Given the description of an element on the screen output the (x, y) to click on. 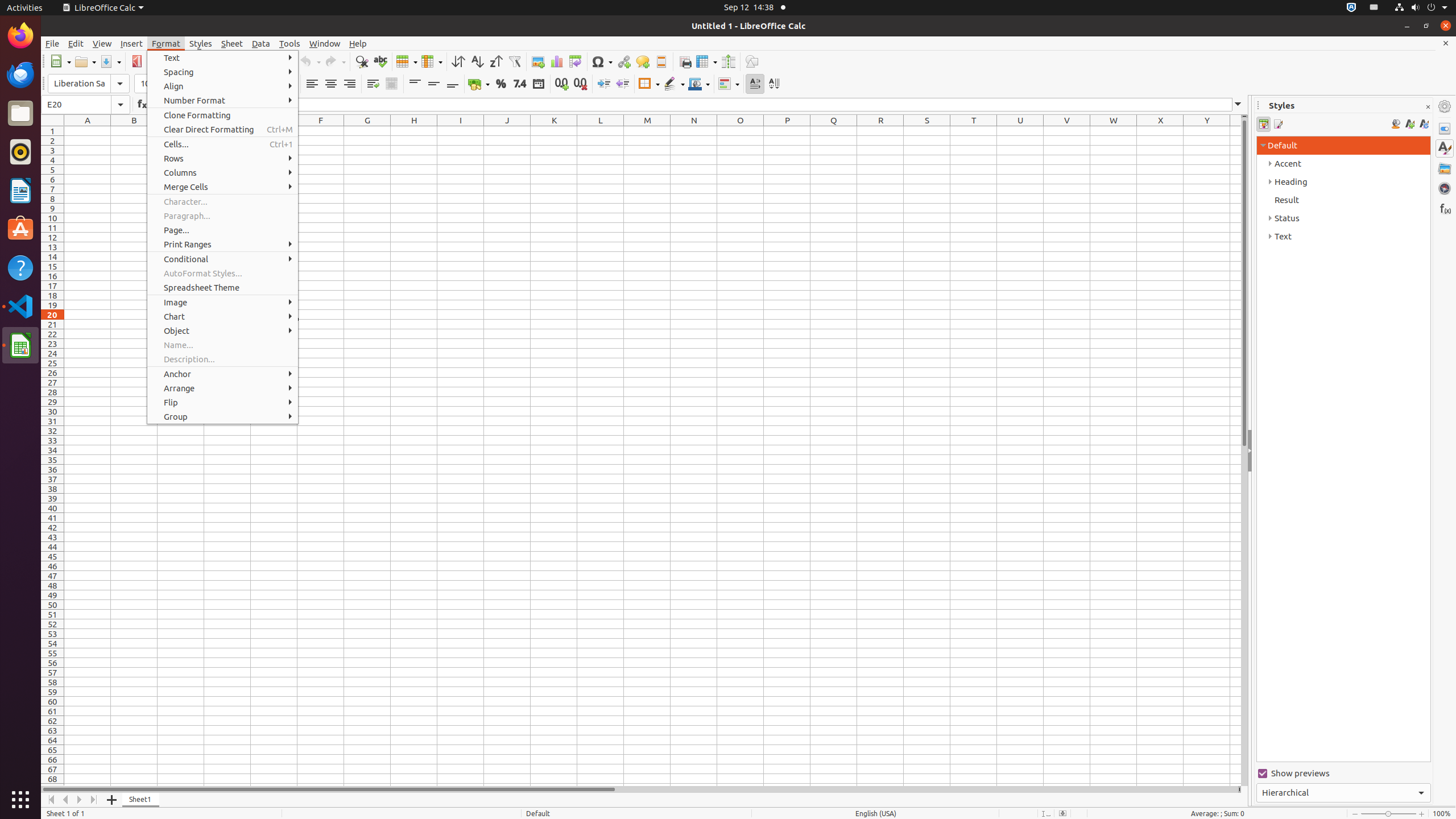
Columns Element type: menu (222, 172)
Page Styles Element type: push-button (1277, 123)
Rows Element type: menu (222, 158)
I1 Element type: table-cell (460, 130)
Wrap Text Element type: push-button (372, 83)
